Given the description of an element on the screen output the (x, y) to click on. 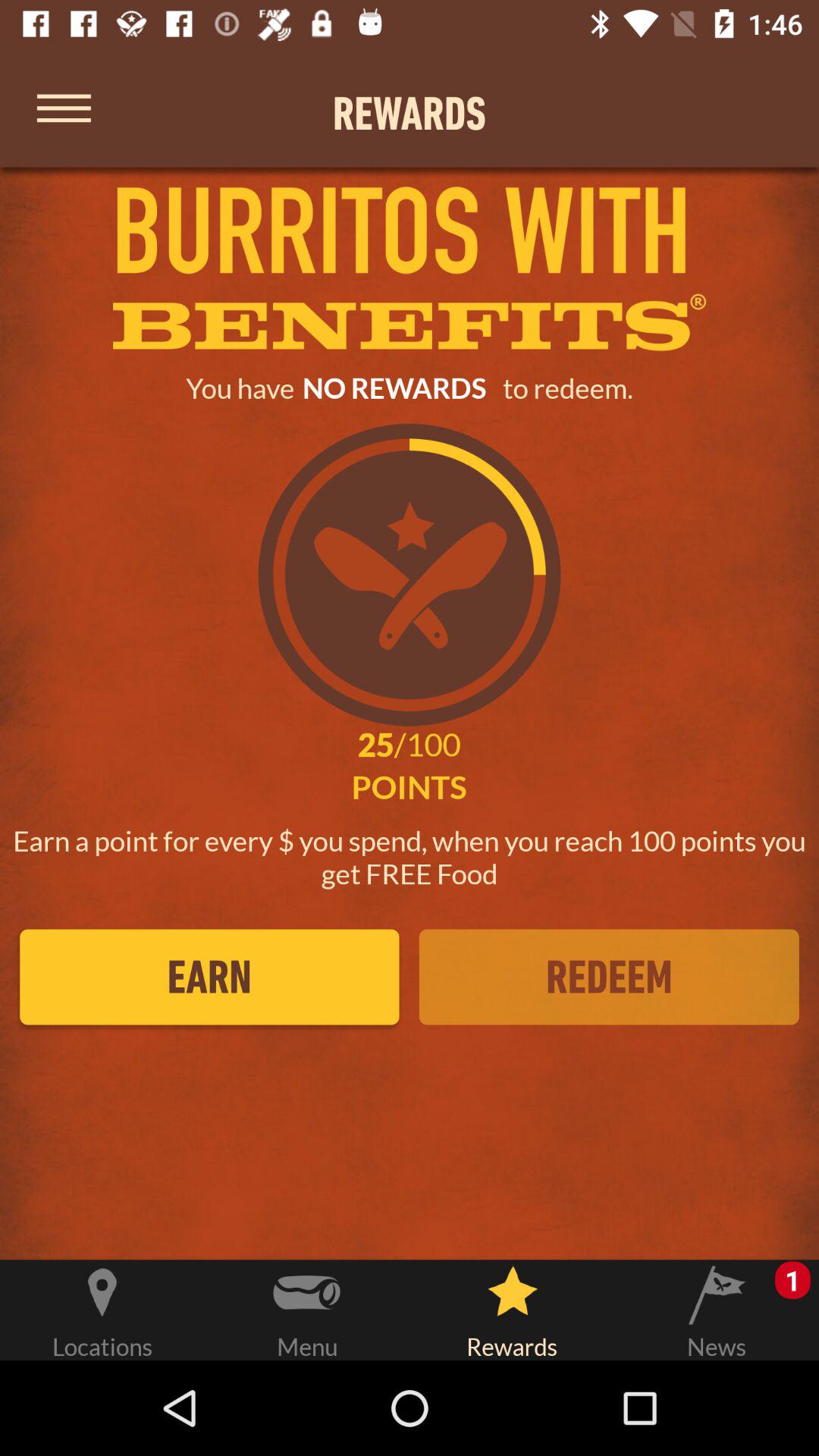
toggle menu (63, 113)
